Given the description of an element on the screen output the (x, y) to click on. 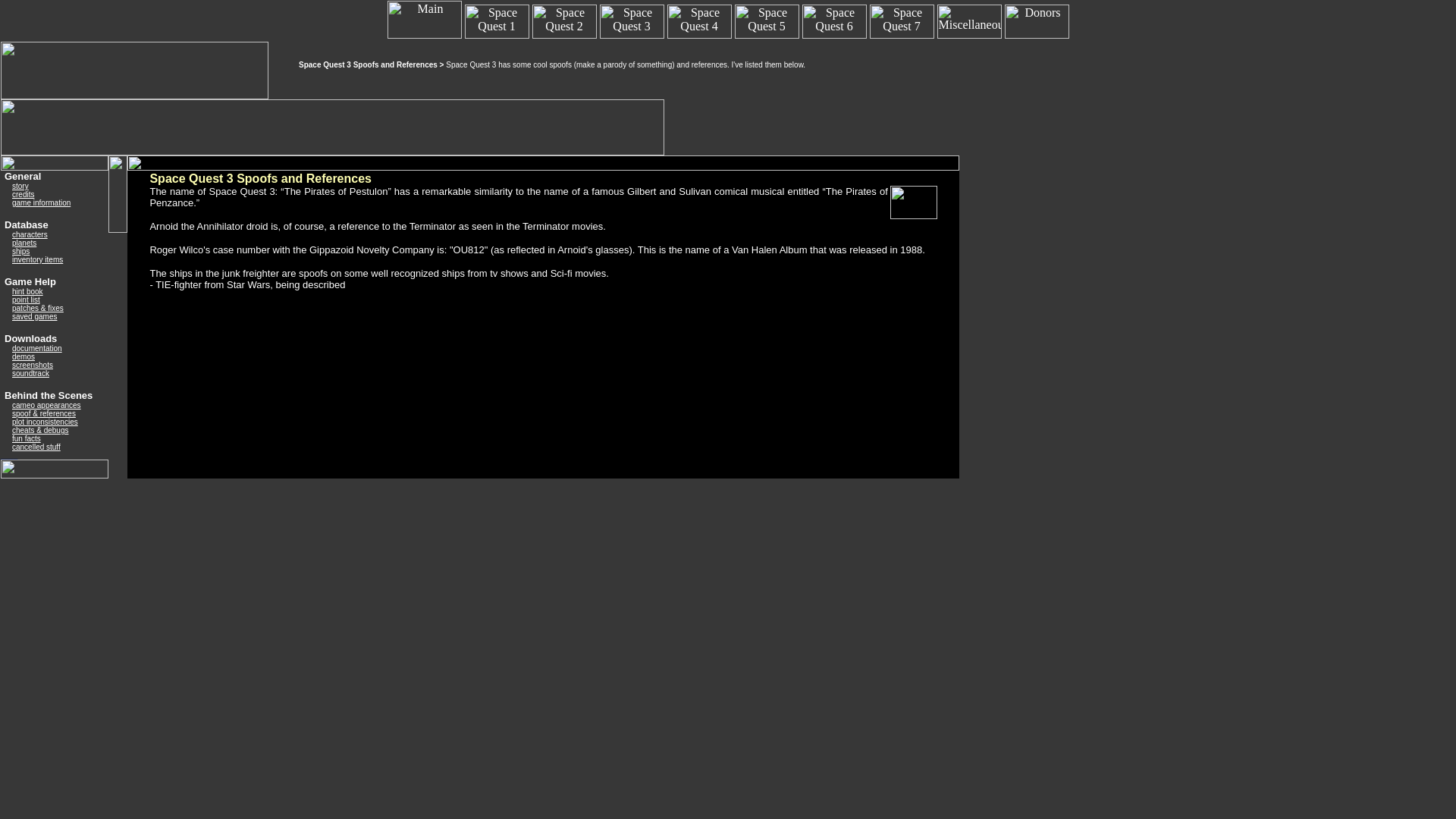
documentation (36, 347)
credits (22, 194)
saved games (33, 316)
hint book (27, 291)
ships (20, 251)
demos (22, 356)
cameo appearances (46, 405)
cancelled stuff (36, 447)
screenshots (31, 365)
story (20, 185)
game information (40, 203)
characters (29, 234)
soundtrack (30, 373)
fun facts (25, 438)
plot inconsistencies (44, 421)
